Given the description of an element on the screen output the (x, y) to click on. 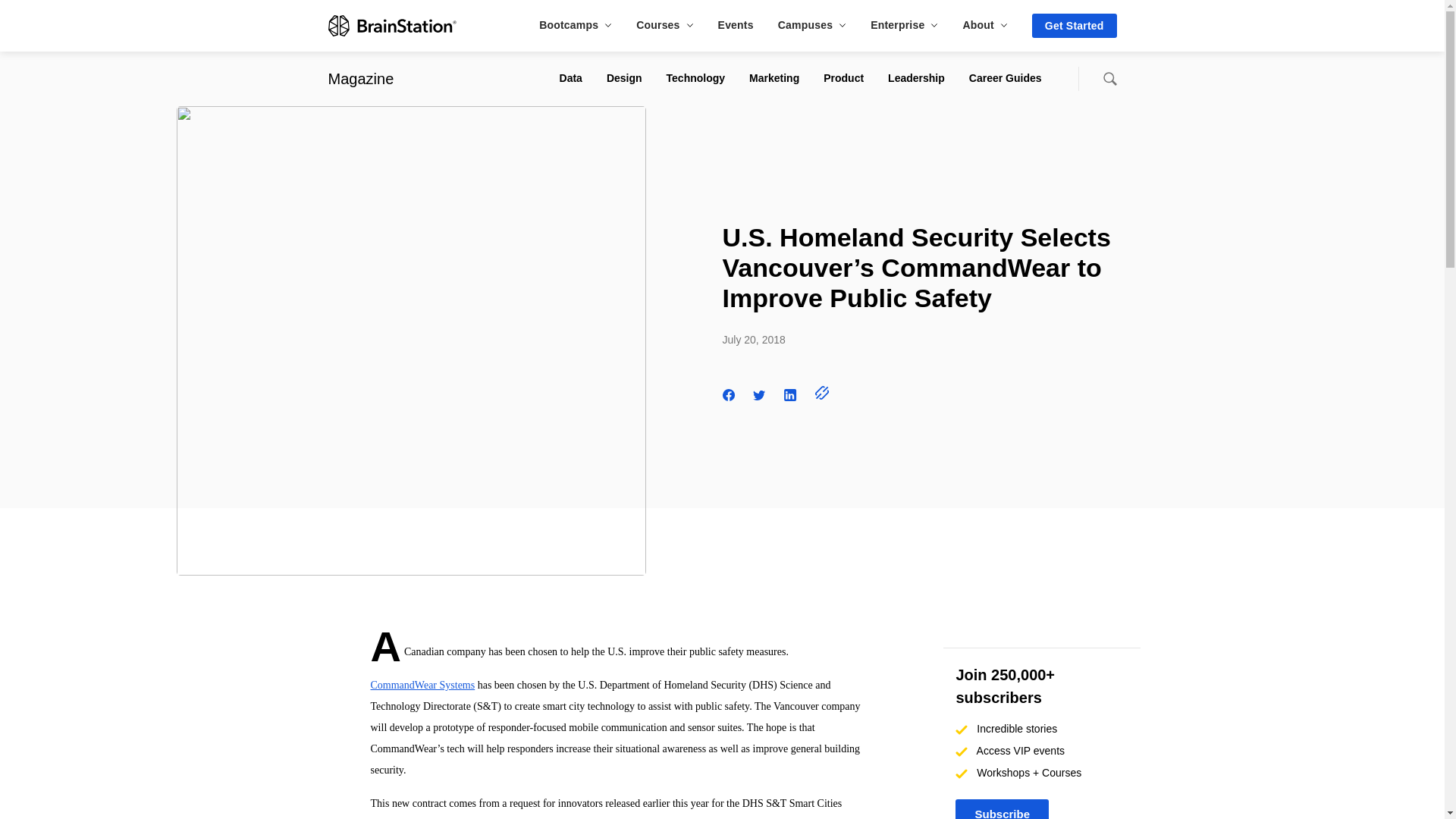
Campuses (811, 24)
Bootcamps (574, 24)
Events (735, 24)
About (984, 24)
Enterprise (903, 24)
Courses (664, 24)
BrainStation Magazine (360, 78)
Search (1109, 78)
